Given the description of an element on the screen output the (x, y) to click on. 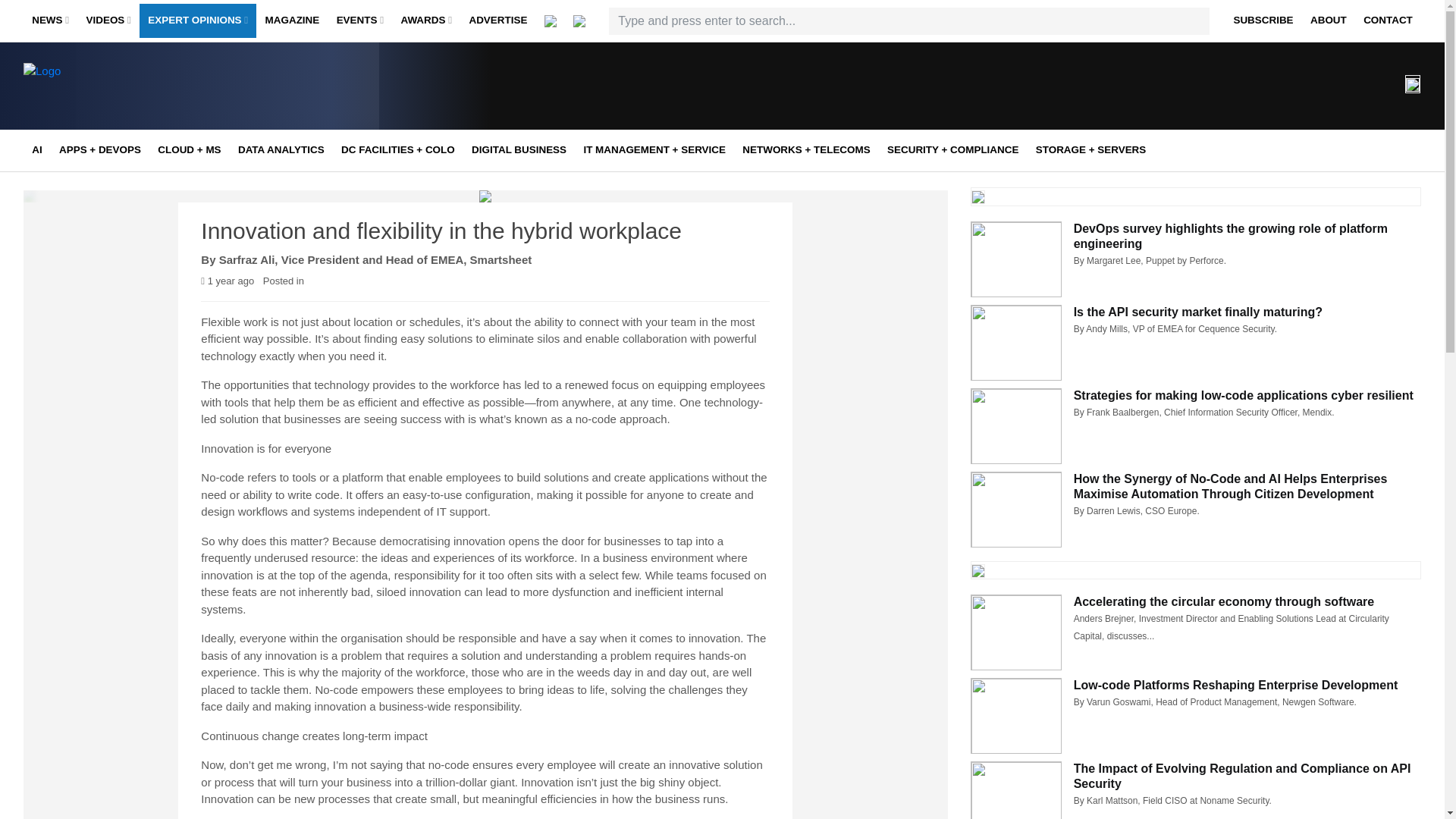
All Expert Opinions (242, 52)
All Videos (180, 52)
NEWS (50, 21)
All News (126, 52)
EXPERT OPINIONS (197, 21)
VIDEOS (108, 21)
